Given the description of an element on the screen output the (x, y) to click on. 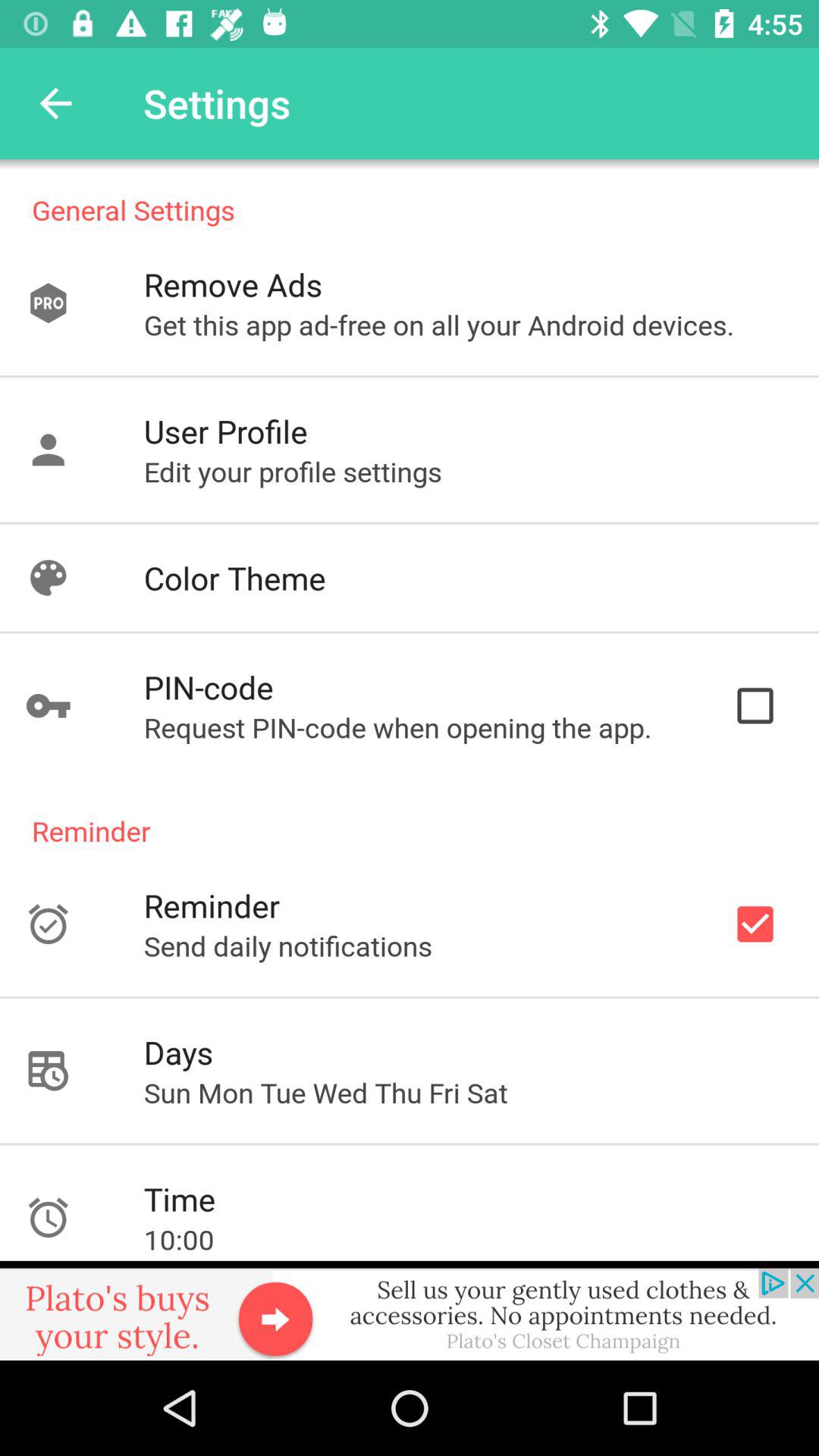
go back button (55, 103)
